Given the description of an element on the screen output the (x, y) to click on. 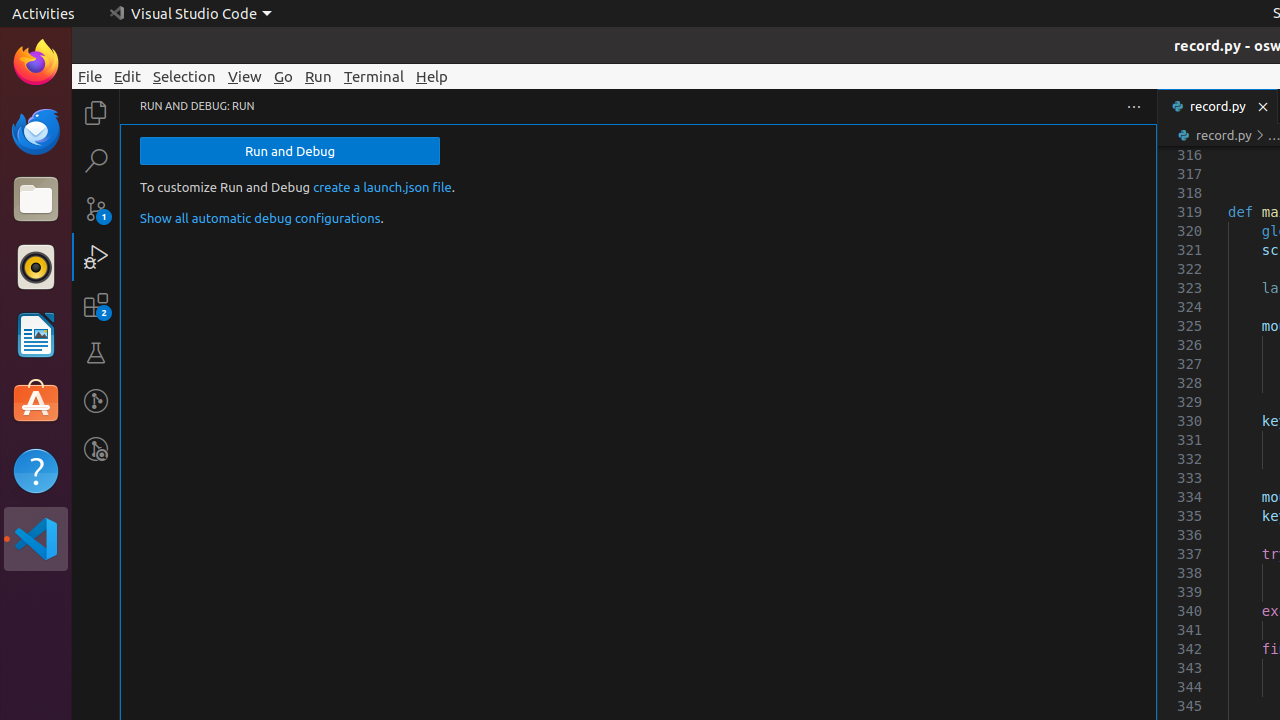
File Element type: push-button (90, 76)
Firefox Web Browser Element type: push-button (36, 63)
